Given the description of an element on the screen output the (x, y) to click on. 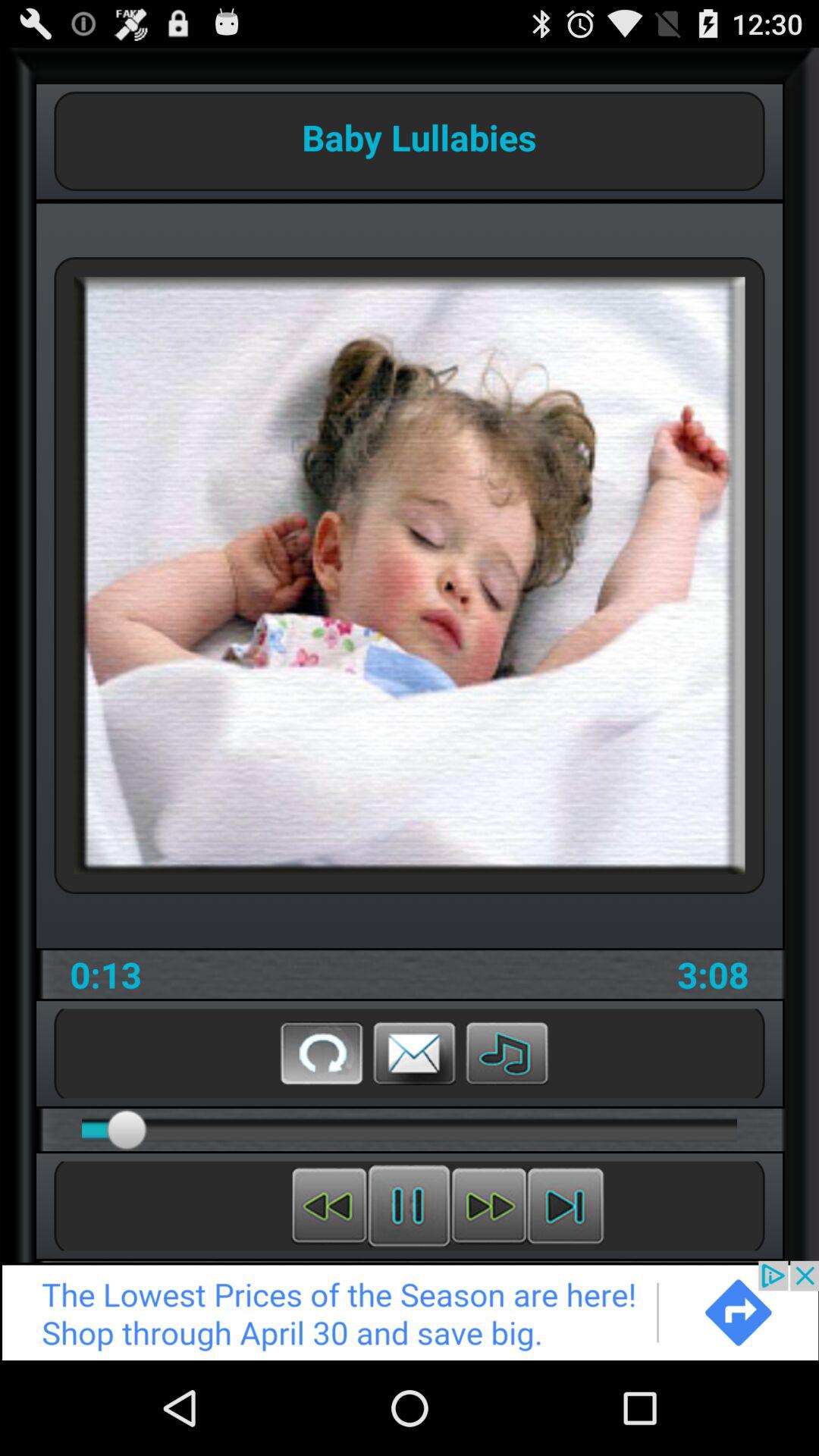
message of store (414, 1053)
